Given the description of an element on the screen output the (x, y) to click on. 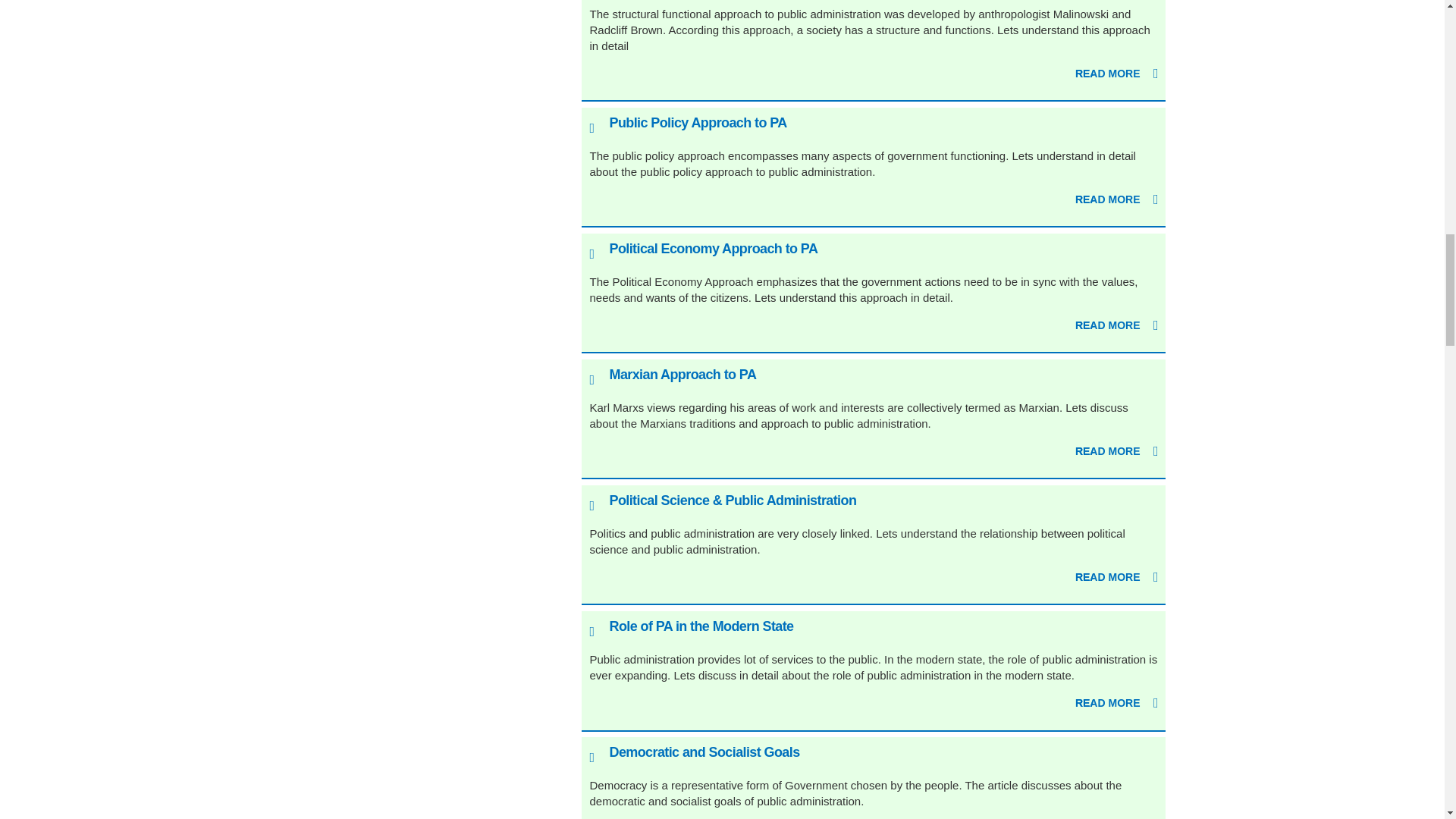
Political Economy Approach to PA (712, 248)
READ MORE (1116, 73)
READ MORE (1116, 200)
Public Policy Approach to PA (697, 122)
